Given the description of an element on the screen output the (x, y) to click on. 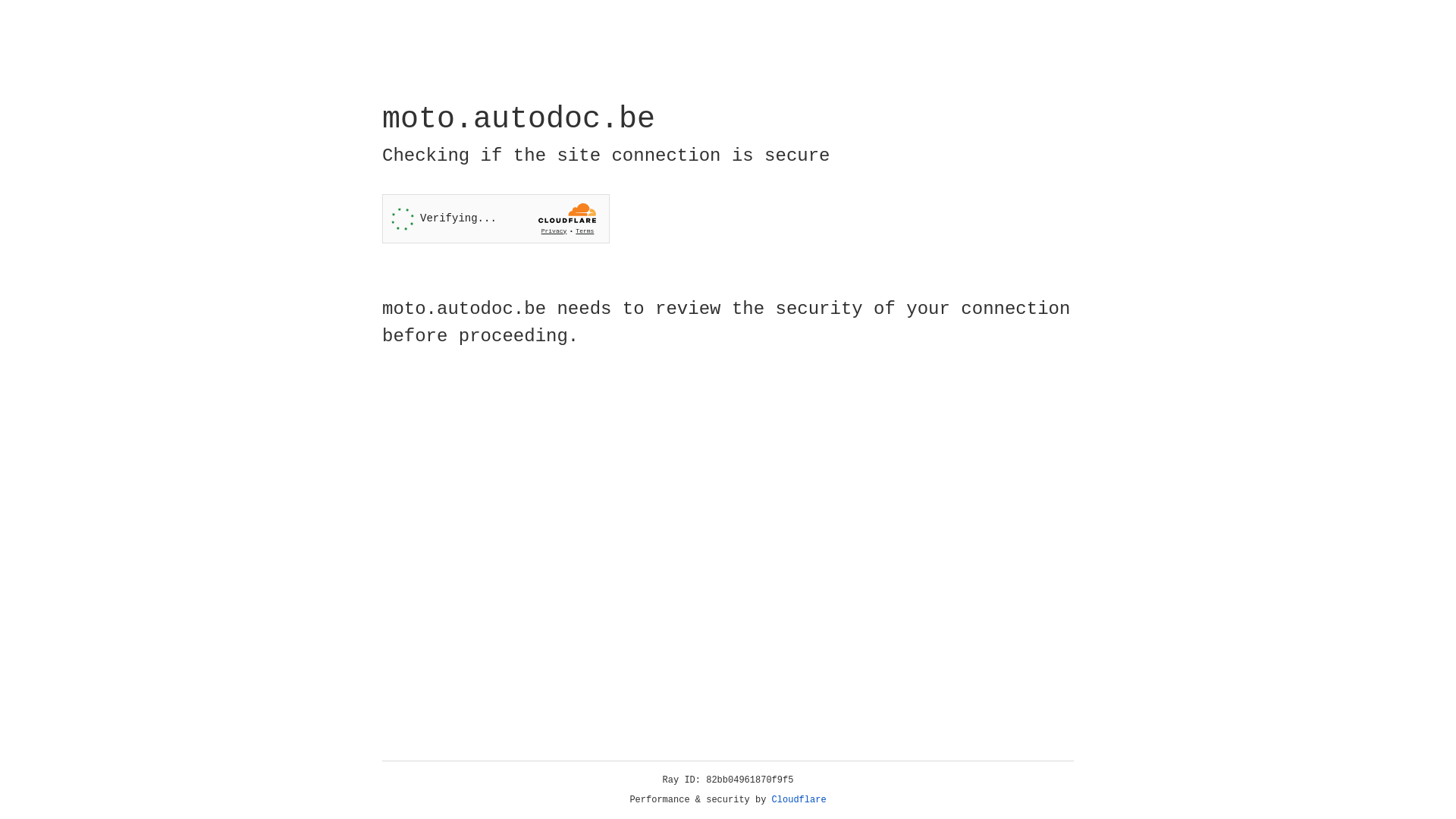
Cloudflare Element type: text (798, 799)
Widget containing a Cloudflare security challenge Element type: hover (495, 218)
